Given the description of an element on the screen output the (x, y) to click on. 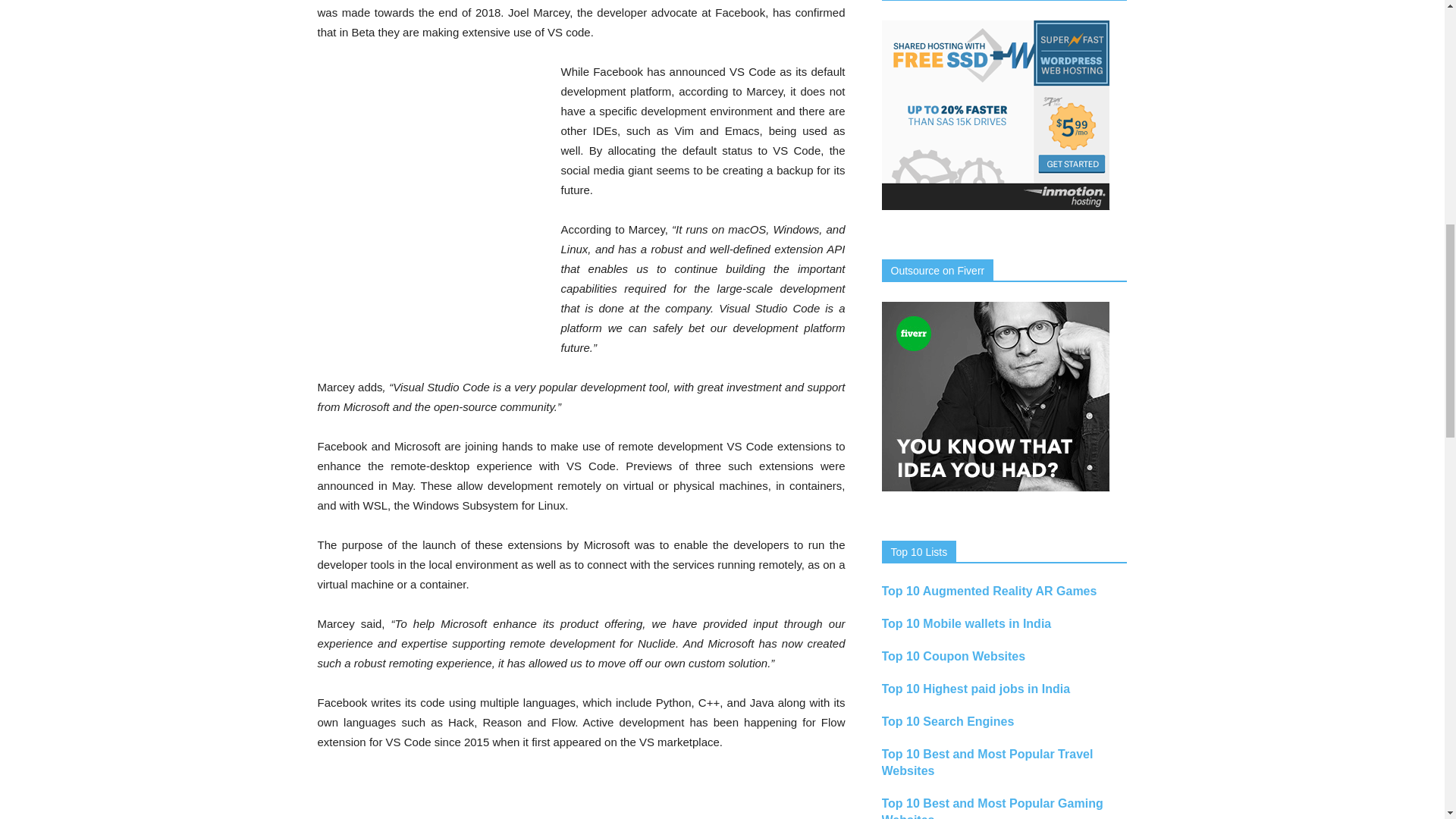
Whistle Feed Ads (580, 795)
